Given the description of an element on the screen output the (x, y) to click on. 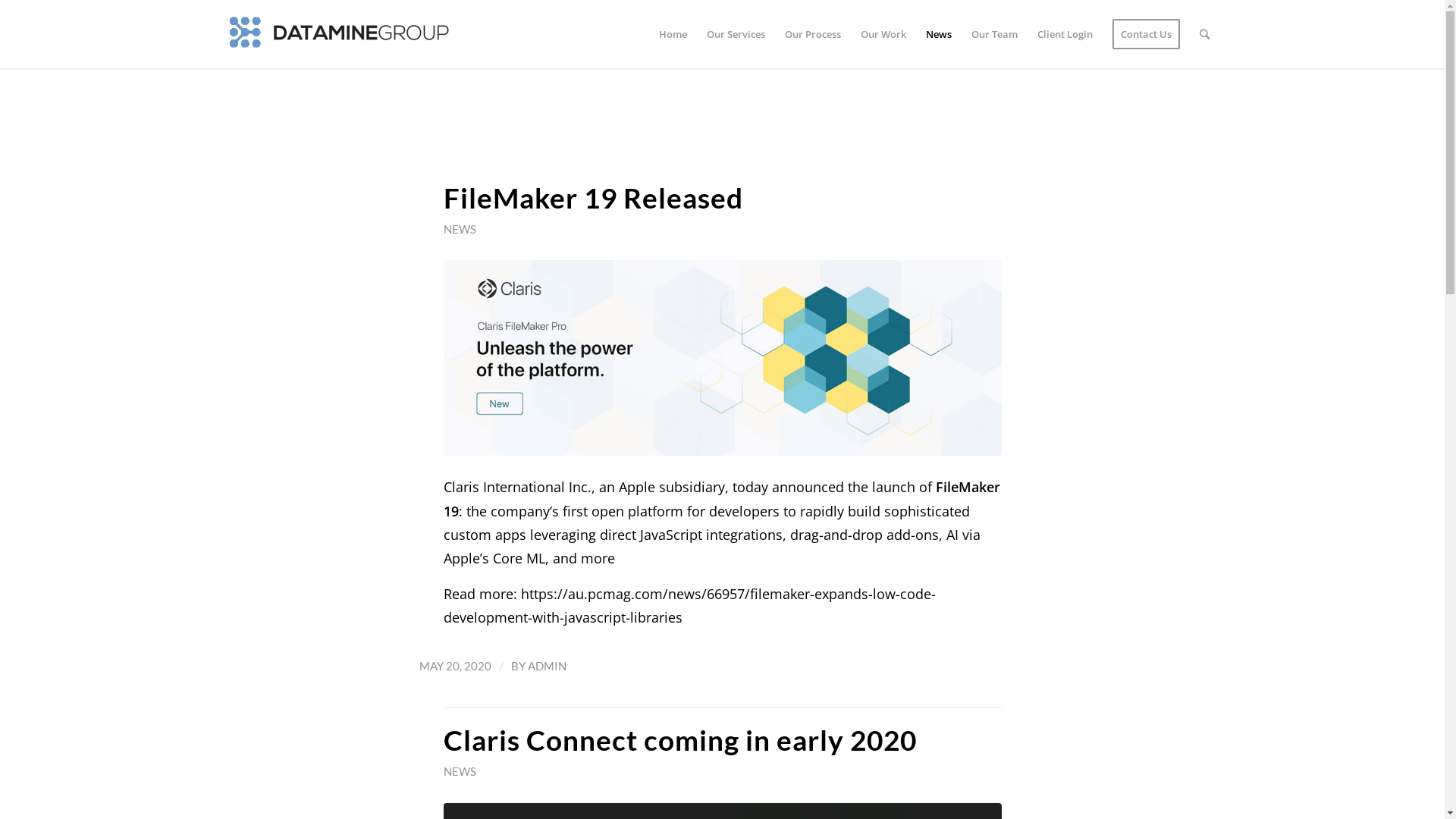
Client Login Element type: text (1063, 34)
Our Work Element type: text (883, 34)
NEWS Element type: text (458, 771)
Our Services Element type: text (735, 34)
Claris Connect coming in early 2020 Element type: text (679, 739)
NEWS Element type: text (458, 228)
Our Process Element type: text (812, 34)
ADMIN Element type: text (546, 665)
Our Team Element type: text (994, 34)
Contact Us Element type: text (1145, 34)
Home Element type: text (672, 34)
FileMaker 19 Released Element type: text (592, 197)
News Element type: text (938, 34)
FileMaker 19 Released Element type: hover (721, 357)
